Given the description of an element on the screen output the (x, y) to click on. 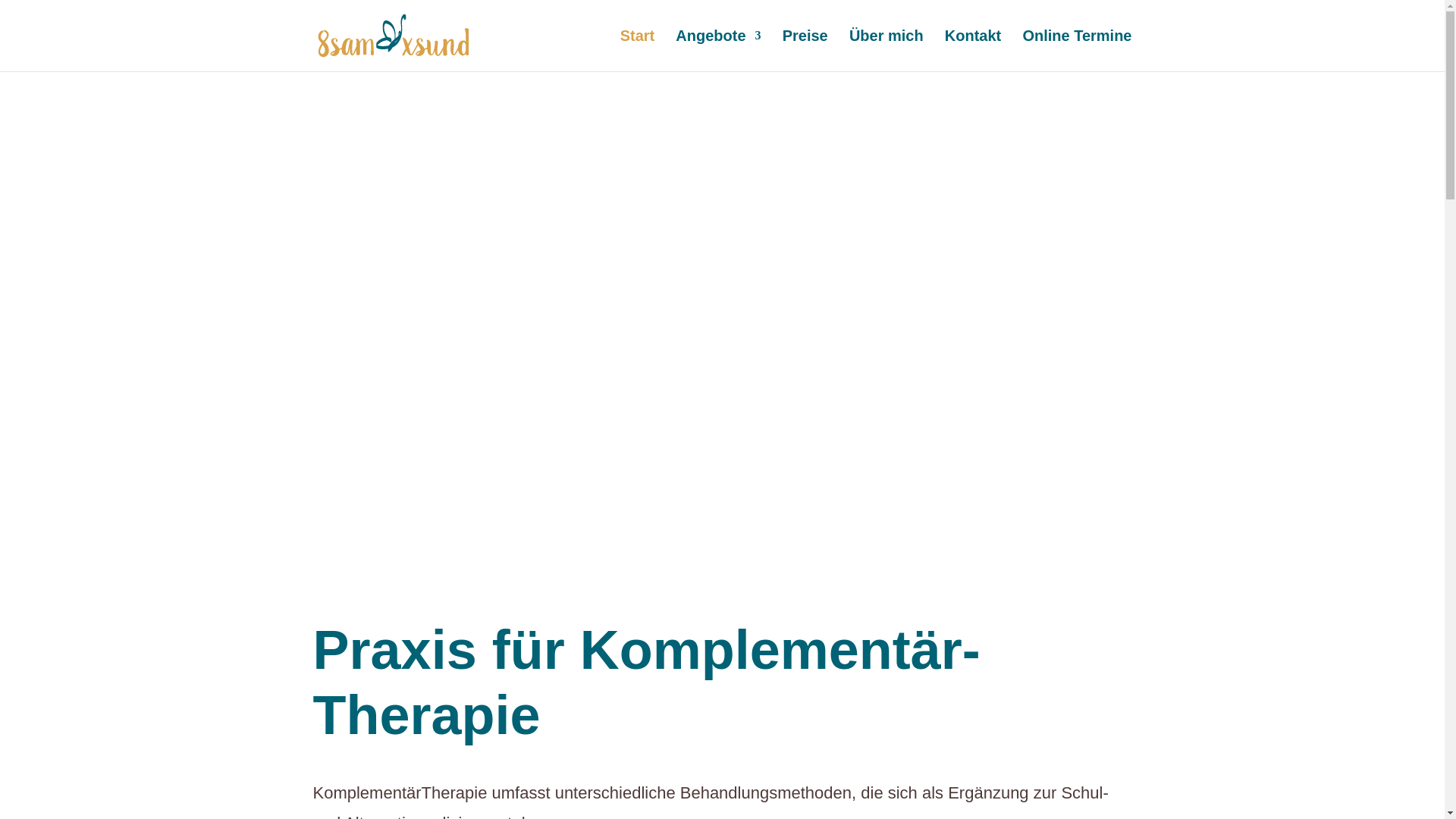
Start Element type: text (637, 50)
Online Termine Element type: text (1076, 50)
Kontakt Element type: text (972, 50)
Angebote Element type: text (717, 50)
Preise Element type: text (805, 50)
